Given the description of an element on the screen output the (x, y) to click on. 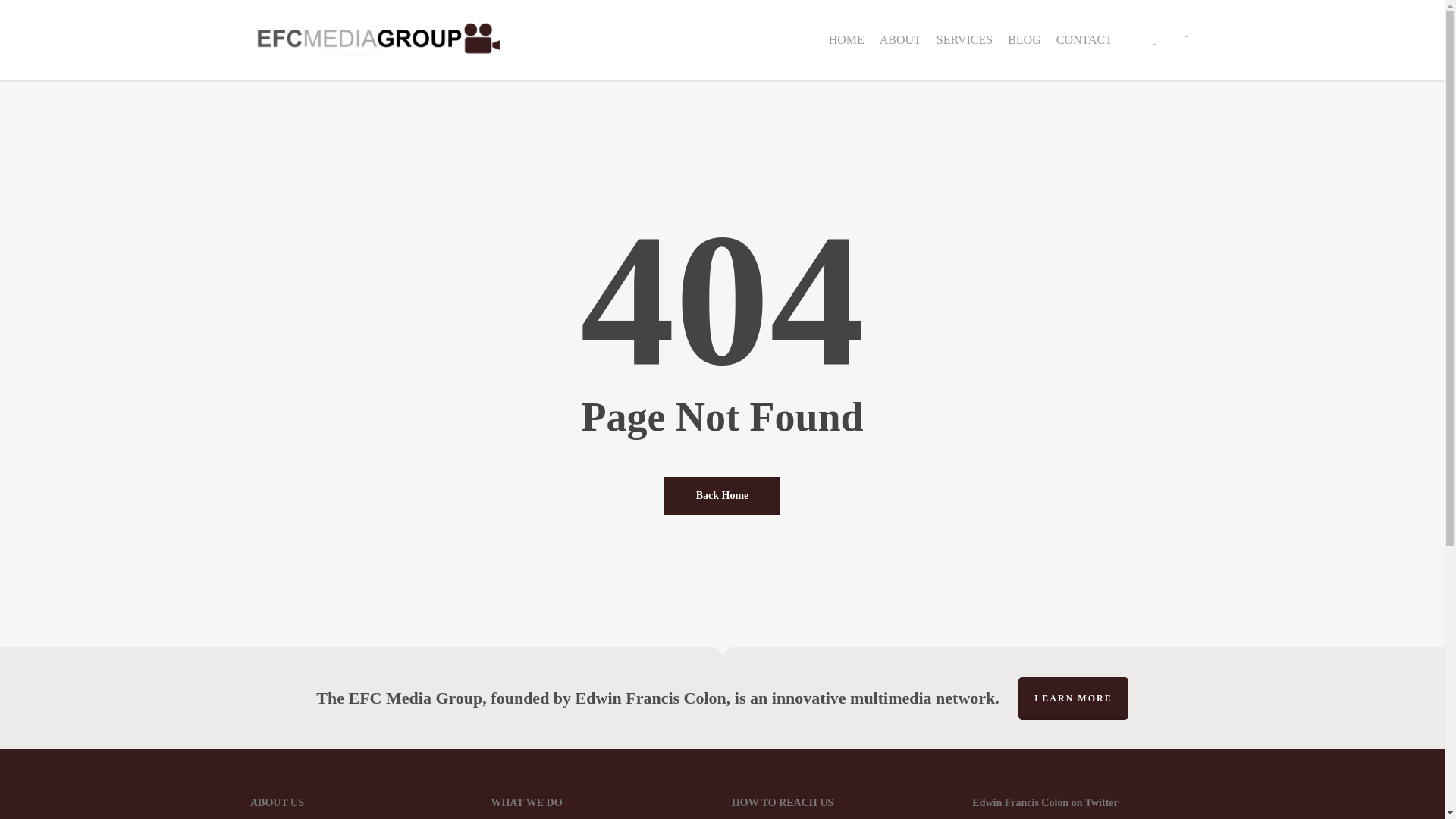
SERVICES (964, 39)
LEARN MORE (1071, 698)
BLOG (1024, 39)
Back Home (721, 494)
ABOUT (900, 39)
search (1154, 39)
CONTACT (1083, 39)
HOME (846, 39)
